Given the description of an element on the screen output the (x, y) to click on. 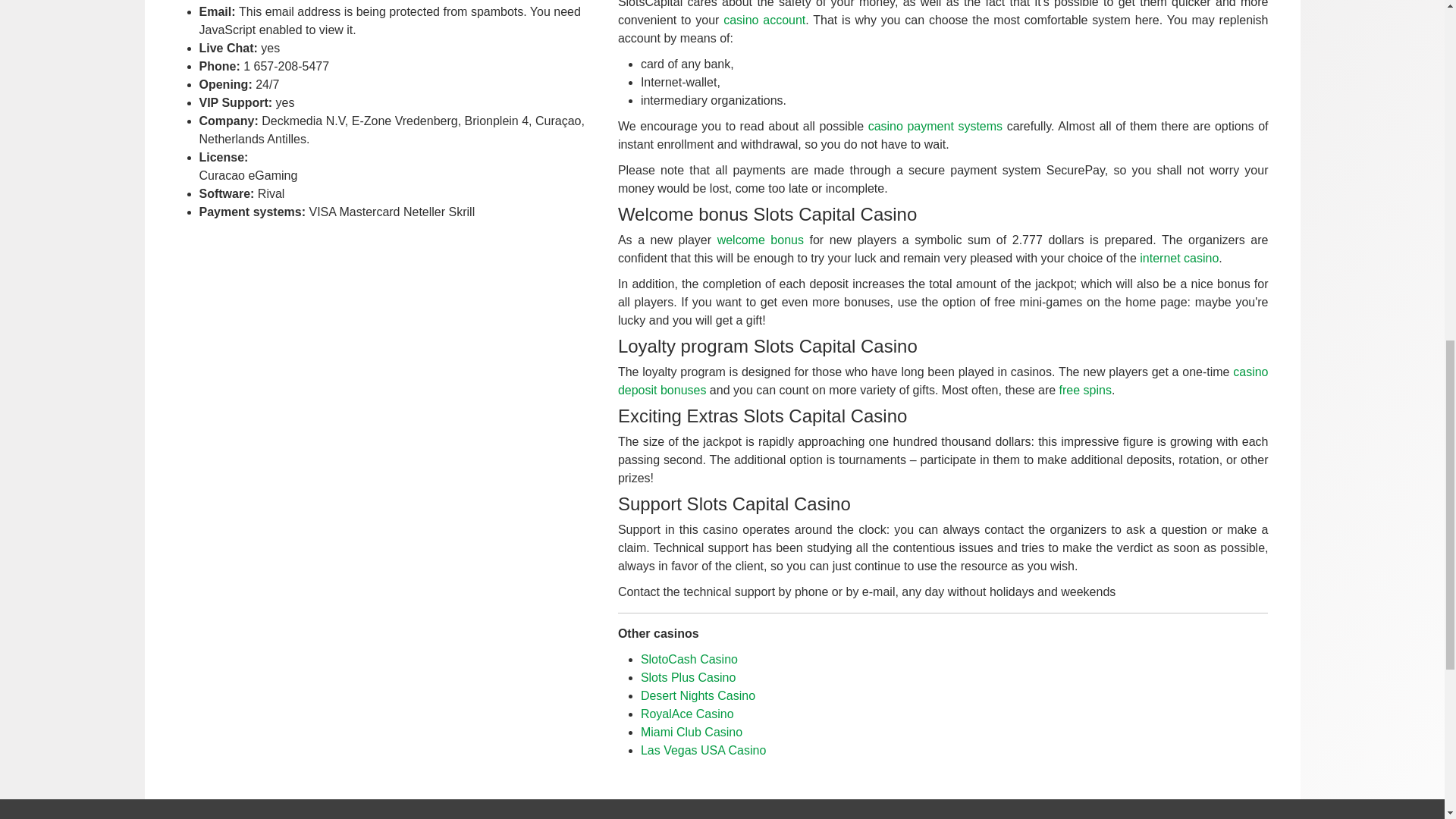
casino account (764, 19)
SlotoCash Casino (689, 658)
Slots Plus Casino (687, 676)
casino payment systems (935, 125)
